Given the description of an element on the screen output the (x, y) to click on. 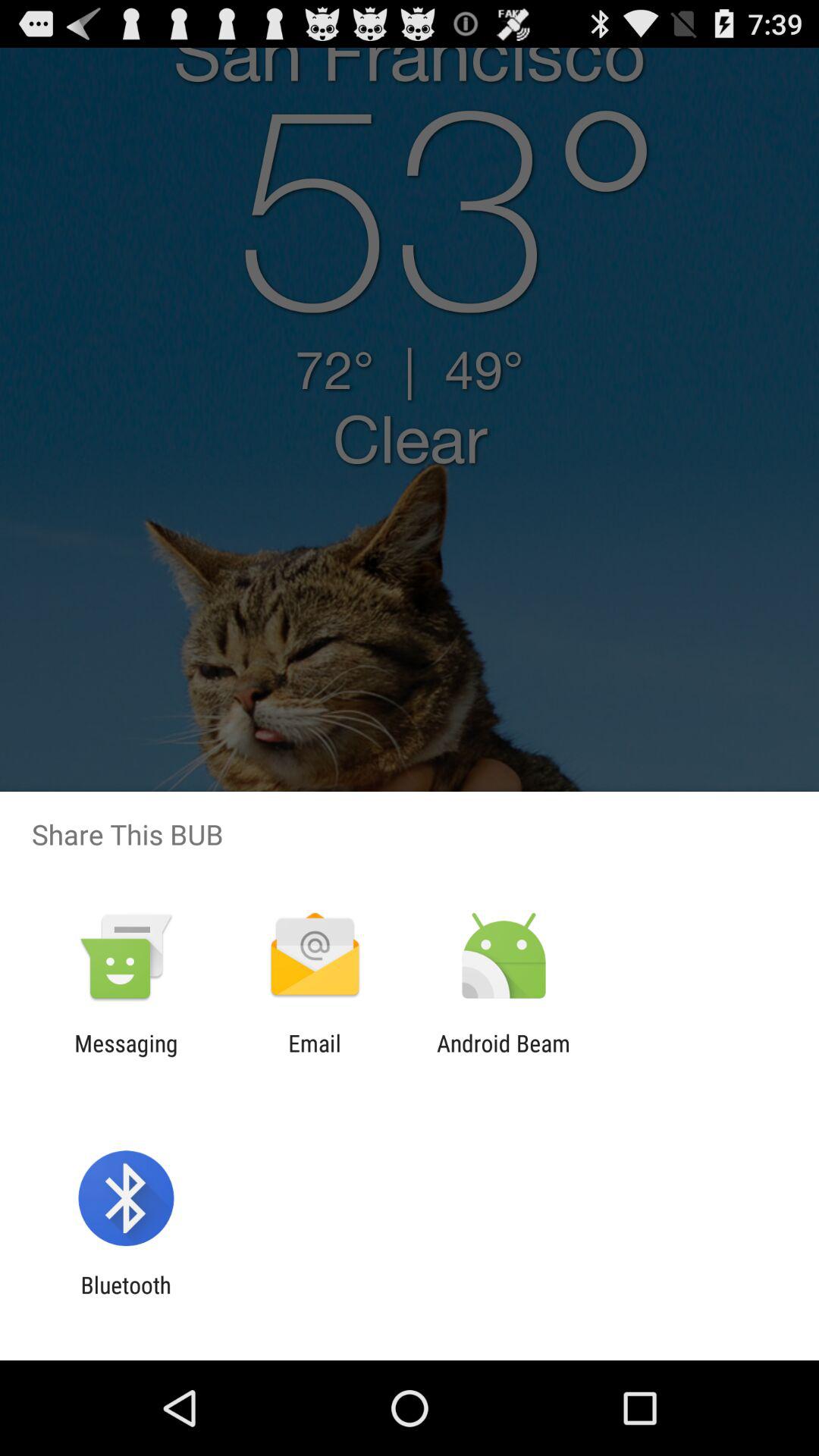
select android beam app (503, 1056)
